Given the description of an element on the screen output the (x, y) to click on. 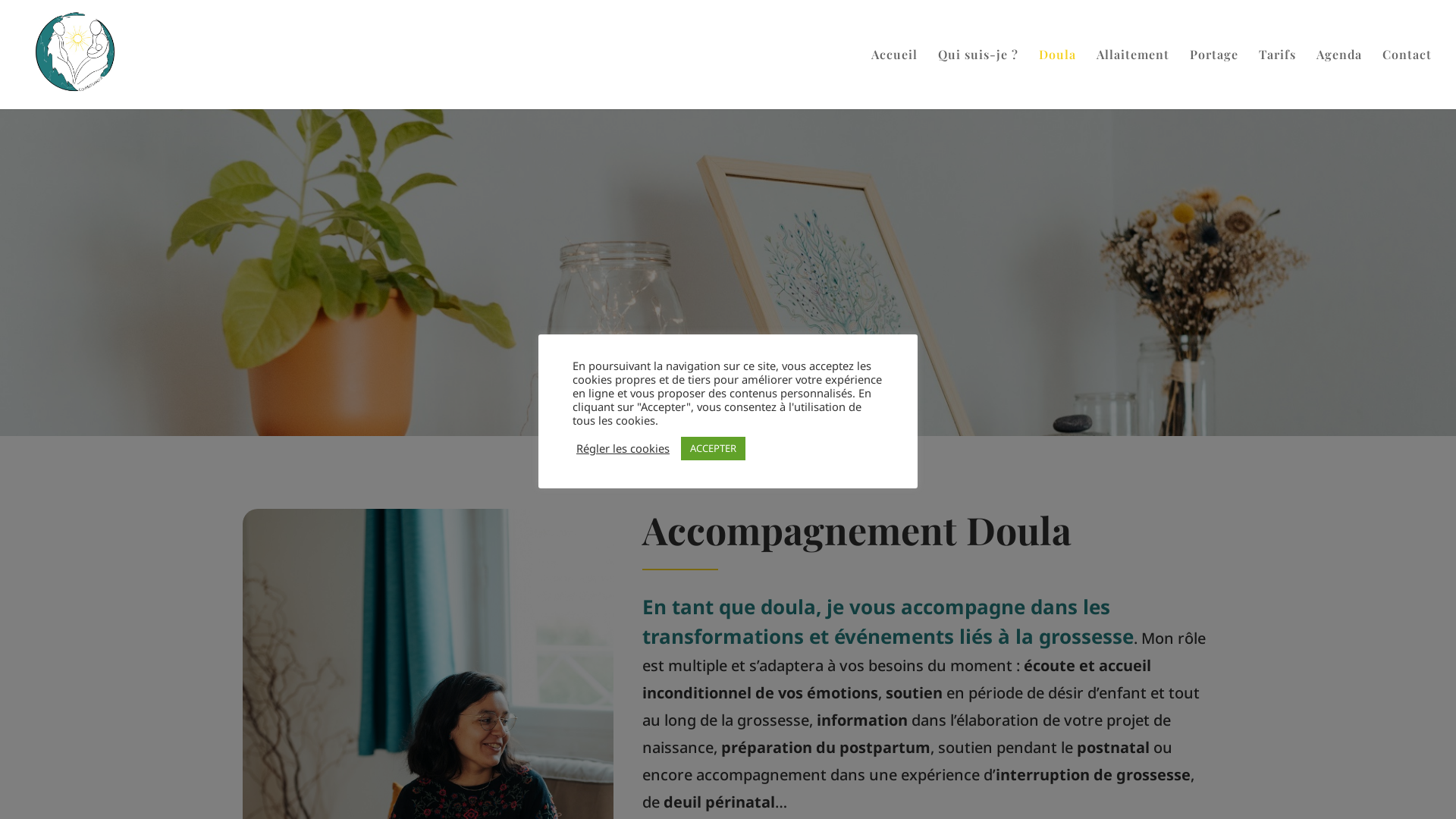
Allaitement Element type: text (1132, 79)
Agenda Element type: text (1338, 79)
Portage Element type: text (1213, 79)
Contact Element type: text (1406, 79)
ACCEPTER Element type: text (712, 448)
Accueil Element type: text (894, 79)
Doula Element type: text (1057, 79)
Qui suis-je ? Element type: text (978, 79)
Tarifs Element type: text (1276, 79)
